Given the description of an element on the screen output the (x, y) to click on. 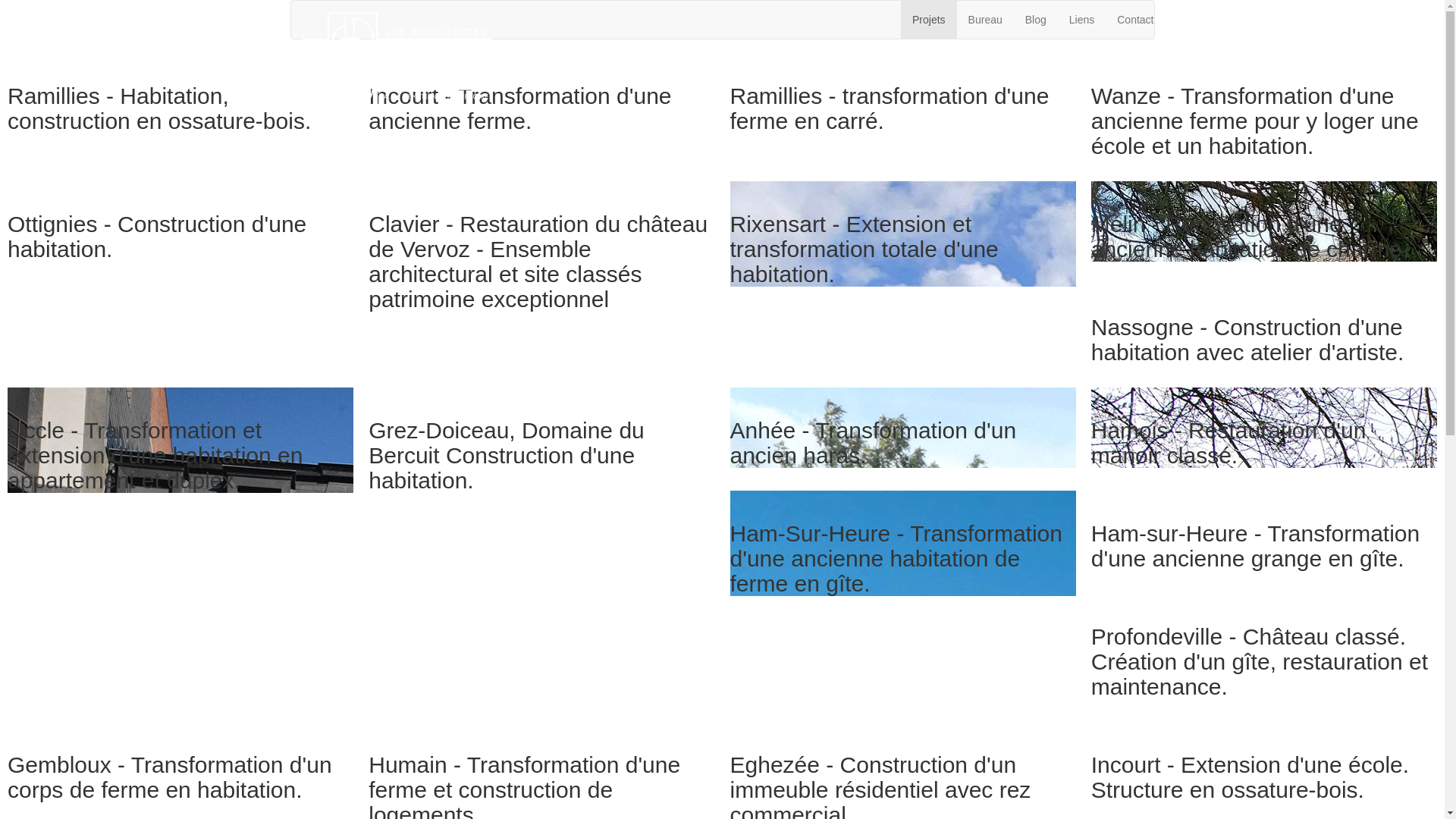
Projets Element type: text (928, 19)
Contact Element type: text (1134, 19)
Blog Element type: text (1035, 19)
Bureau Element type: text (985, 19)
Liens Element type: text (1081, 19)
